Given the description of an element on the screen output the (x, y) to click on. 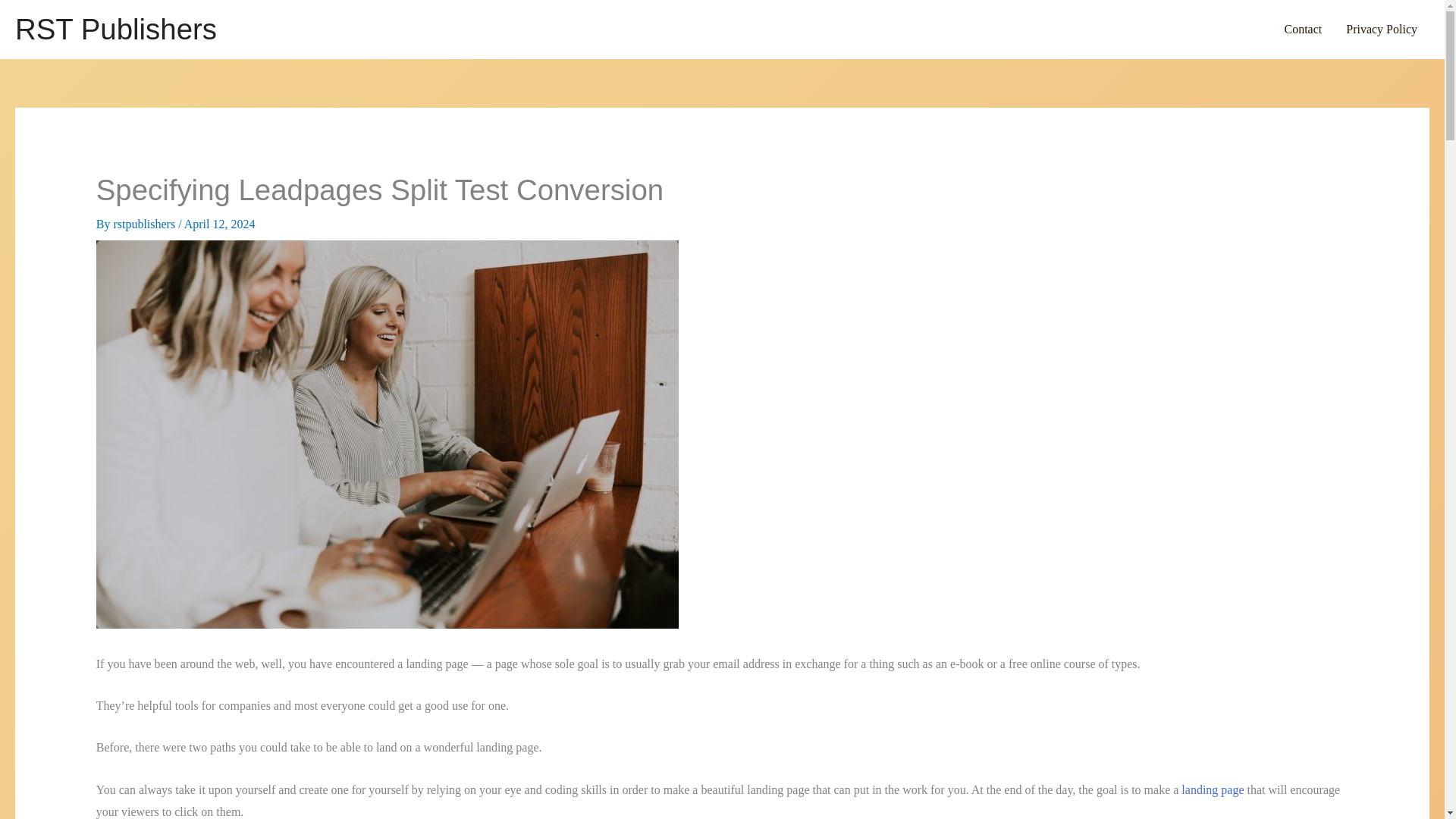
Contact (1302, 29)
View all posts by rstpublishers (145, 223)
RST Publishers (115, 29)
rstpublishers (145, 223)
landing page (1211, 789)
Privacy Policy (1381, 29)
